Given the description of an element on the screen output the (x, y) to click on. 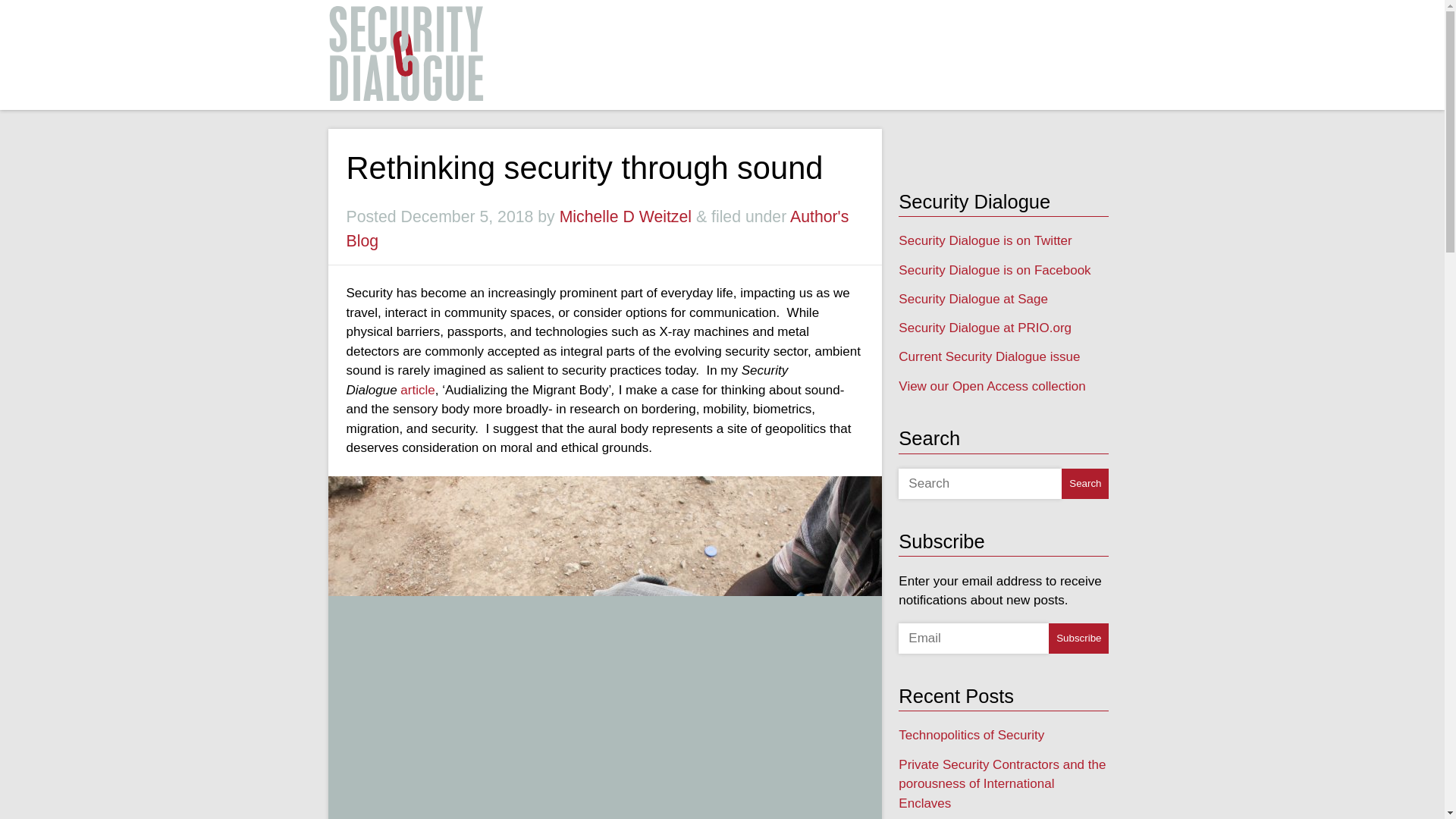
Security Dialogue is on Twitter (984, 240)
article (416, 390)
Subscribe (1078, 638)
Email (973, 638)
Search (1084, 483)
View our Open Access collection (991, 386)
Author's Blog (597, 229)
Security Dialogue at PRIO.org (984, 327)
Current Security Dialogue issue (989, 356)
Security Dialogue at Sage (973, 298)
Subscribe (1078, 638)
Posts by Michelle D Weitzel (625, 217)
Technopolitics of Security (970, 735)
Security Dialogue is on Facebook (994, 269)
